Given the description of an element on the screen output the (x, y) to click on. 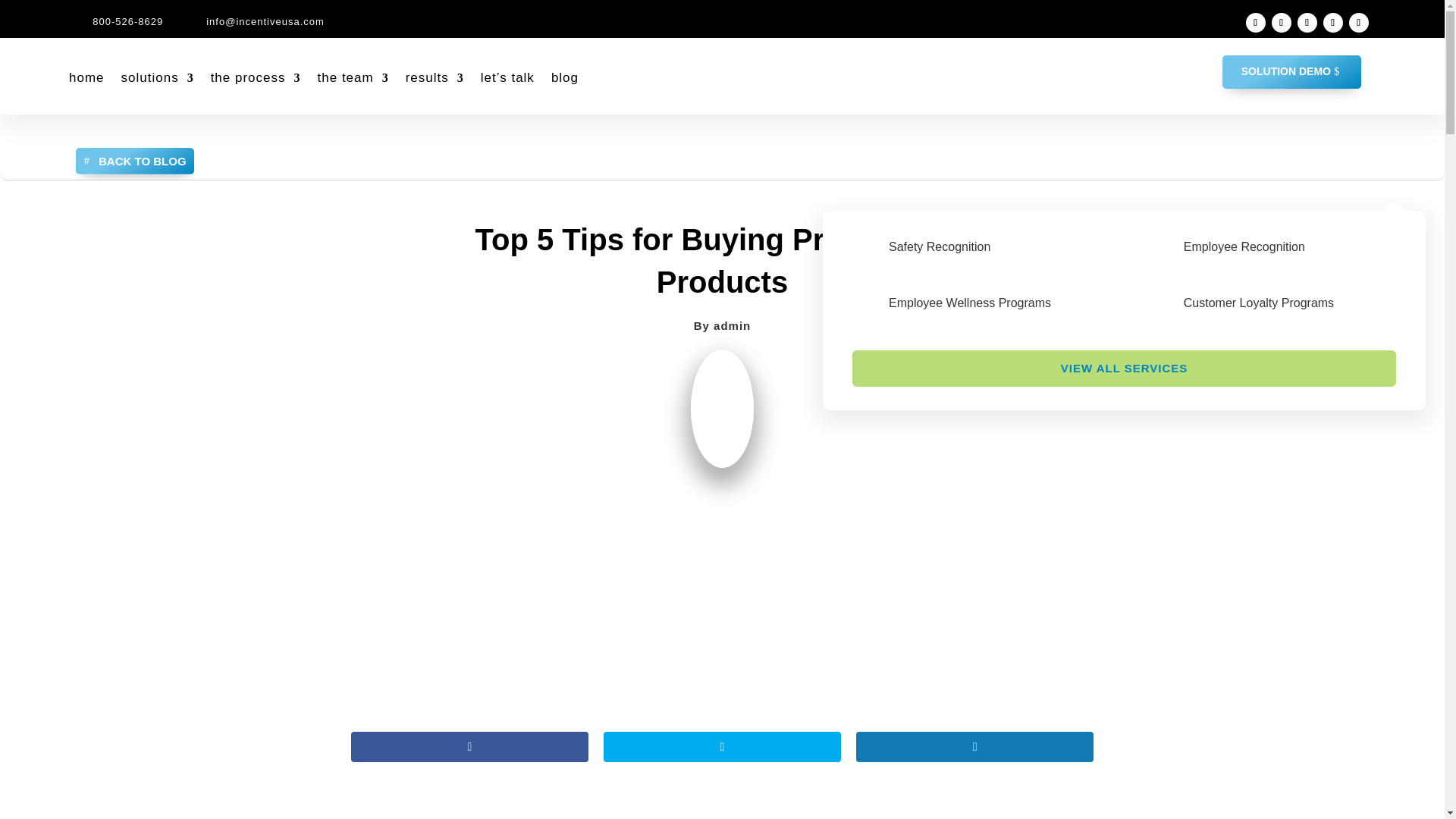
the process (256, 78)
Follow on Youtube (1358, 22)
Follow on Facebook (1281, 22)
Follow on LinkedIn (1255, 22)
800-526-8629 (128, 21)
the team (352, 78)
Employee Recognition (1243, 246)
SOLUTION DEMO (1292, 71)
Safety Recognition (939, 246)
Employee Wellness Programs (969, 303)
